Given the description of an element on the screen output the (x, y) to click on. 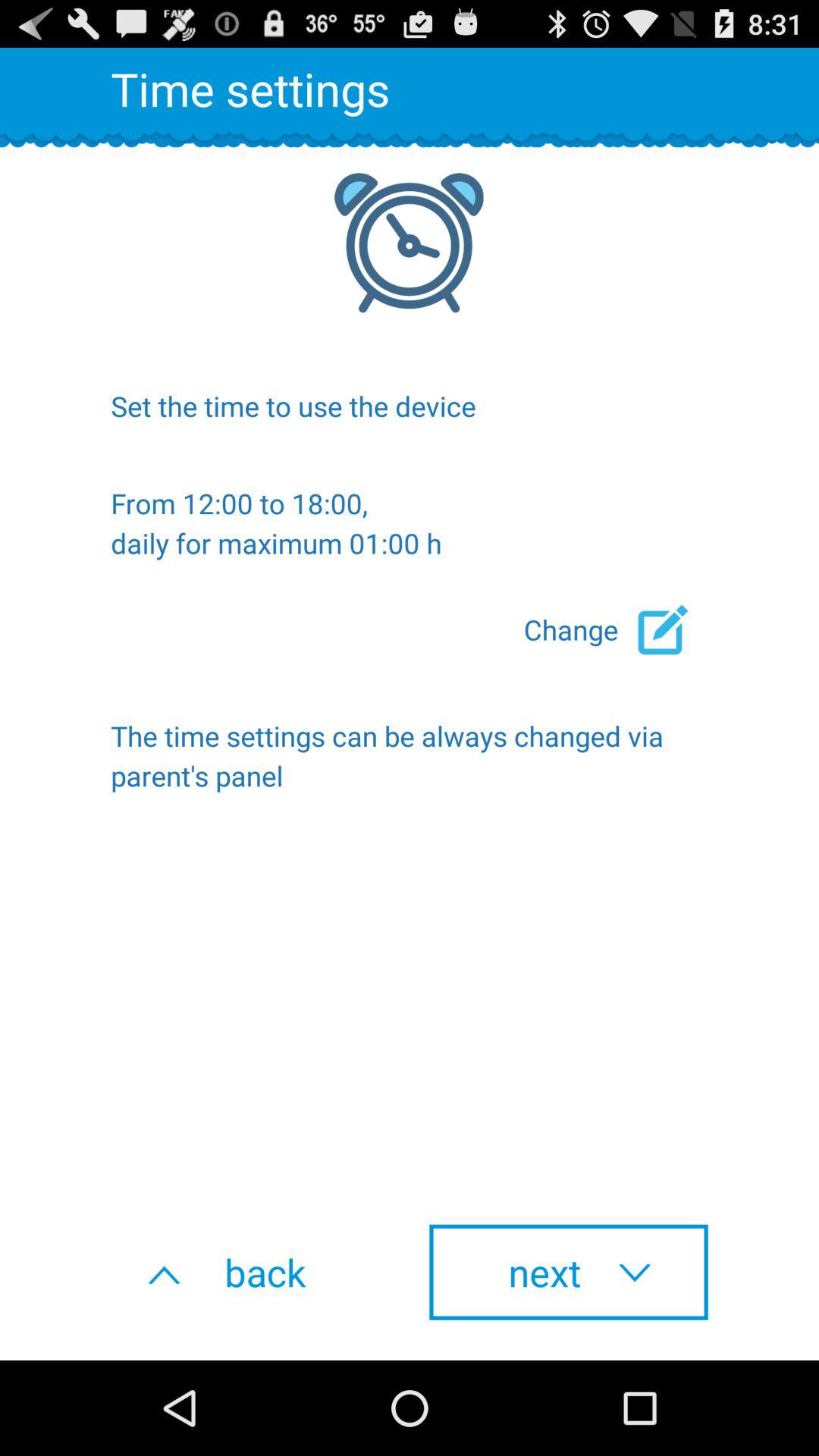
scroll to the next item (568, 1272)
